Given the description of an element on the screen output the (x, y) to click on. 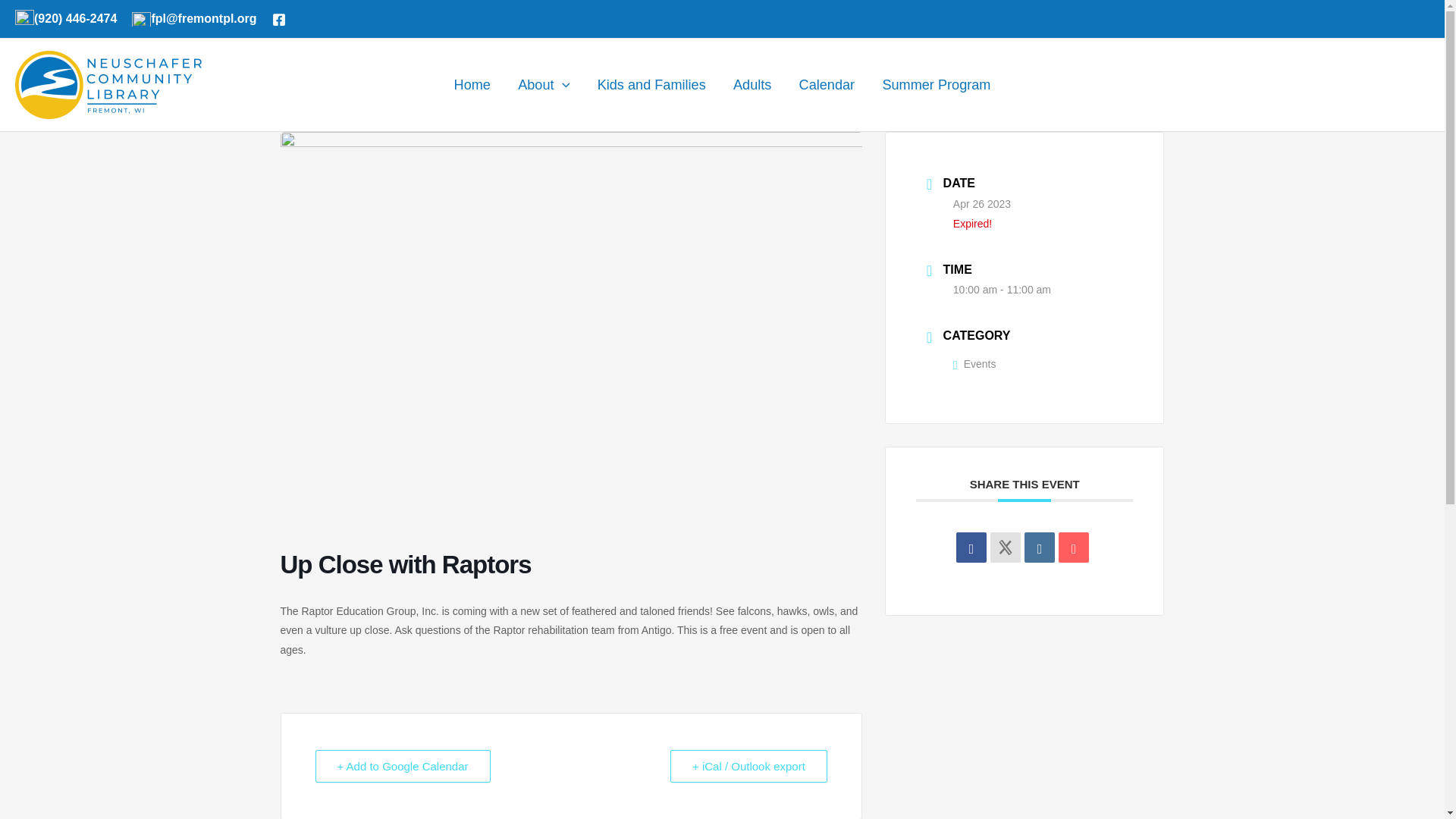
About (543, 84)
Share on Facebook (971, 547)
Kids and Families (651, 84)
Email (1073, 547)
Adults (752, 84)
Events (974, 363)
Linkedin (1039, 547)
X Social Network (1005, 547)
Summer Program (935, 84)
Calendar (825, 84)
